Given the description of an element on the screen output the (x, y) to click on. 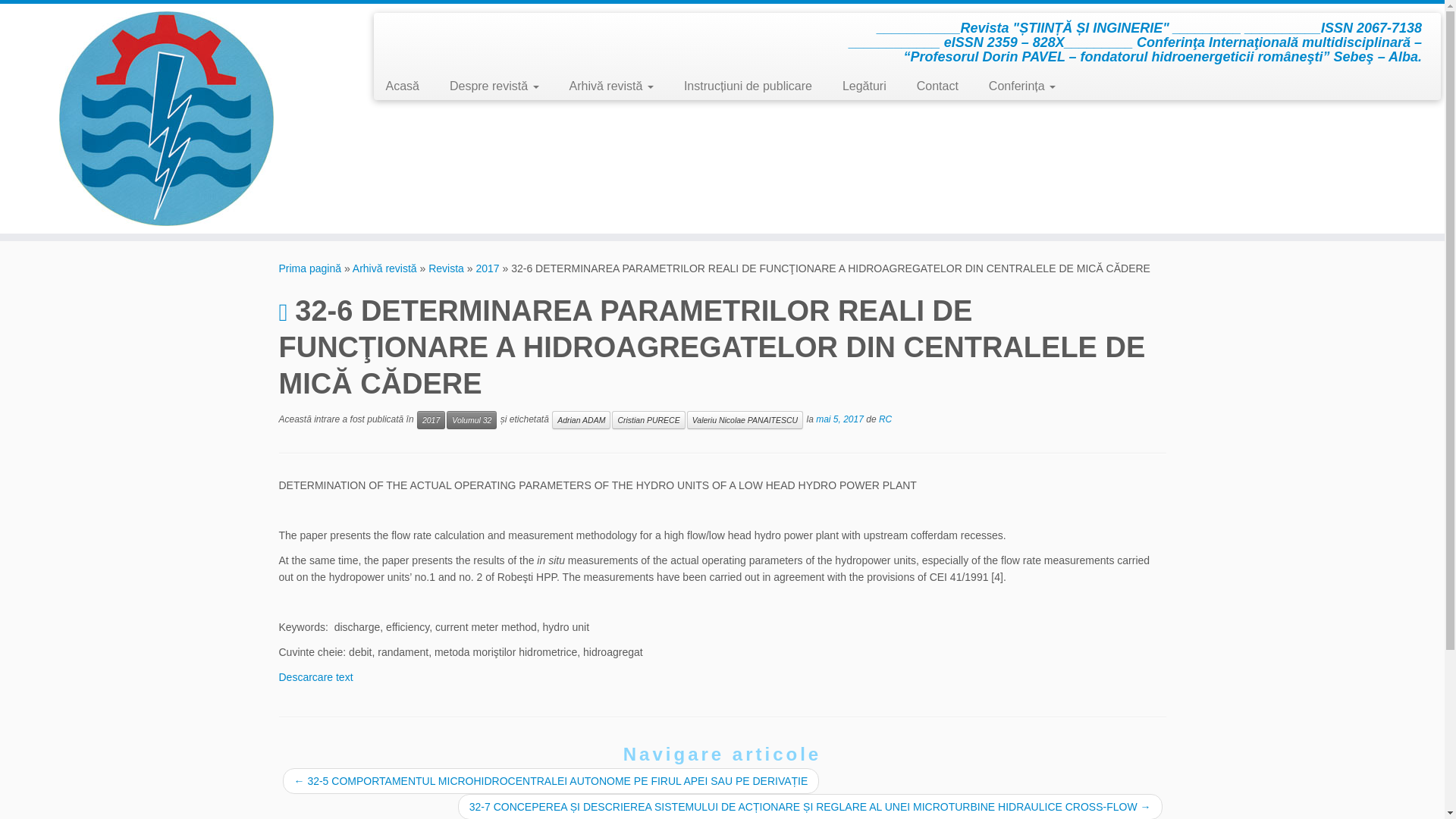
Vezi toate articolele din Adrian ADAM (580, 420)
Vezi toate articolele din Valeriu Nicolae PANAITESCU (745, 420)
Vezi toate articolele din 2017 (430, 420)
Vezi toate articolele din Volumul 32 (471, 420)
2:14 am (839, 419)
Vezi toate articolele de RC (885, 419)
Vezi toate articolele din Cristian PURECE (647, 420)
2017 (487, 268)
Revista (446, 268)
